Given the description of an element on the screen output the (x, y) to click on. 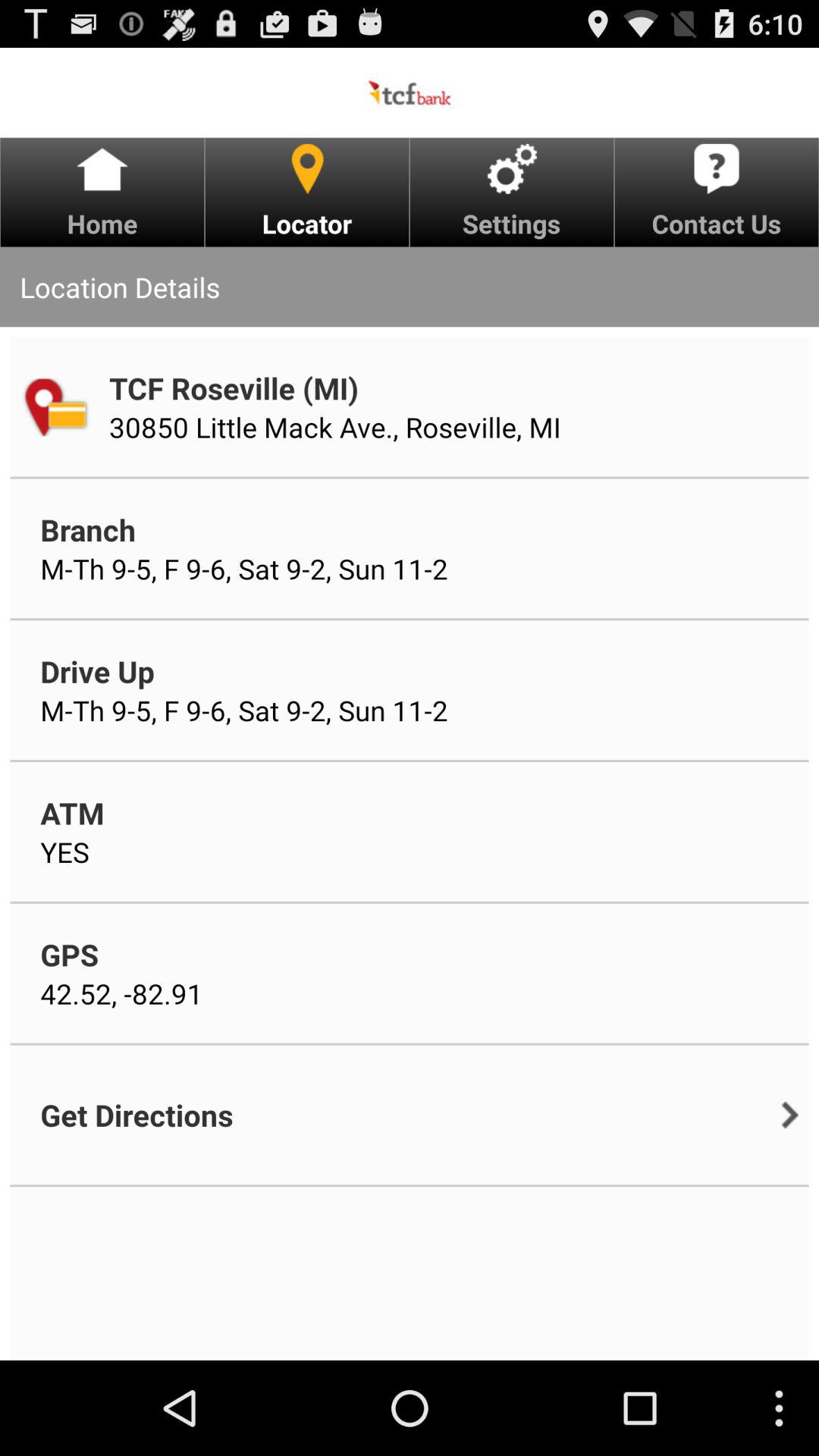
flip to the 42 52 82 item (121, 993)
